Given the description of an element on the screen output the (x, y) to click on. 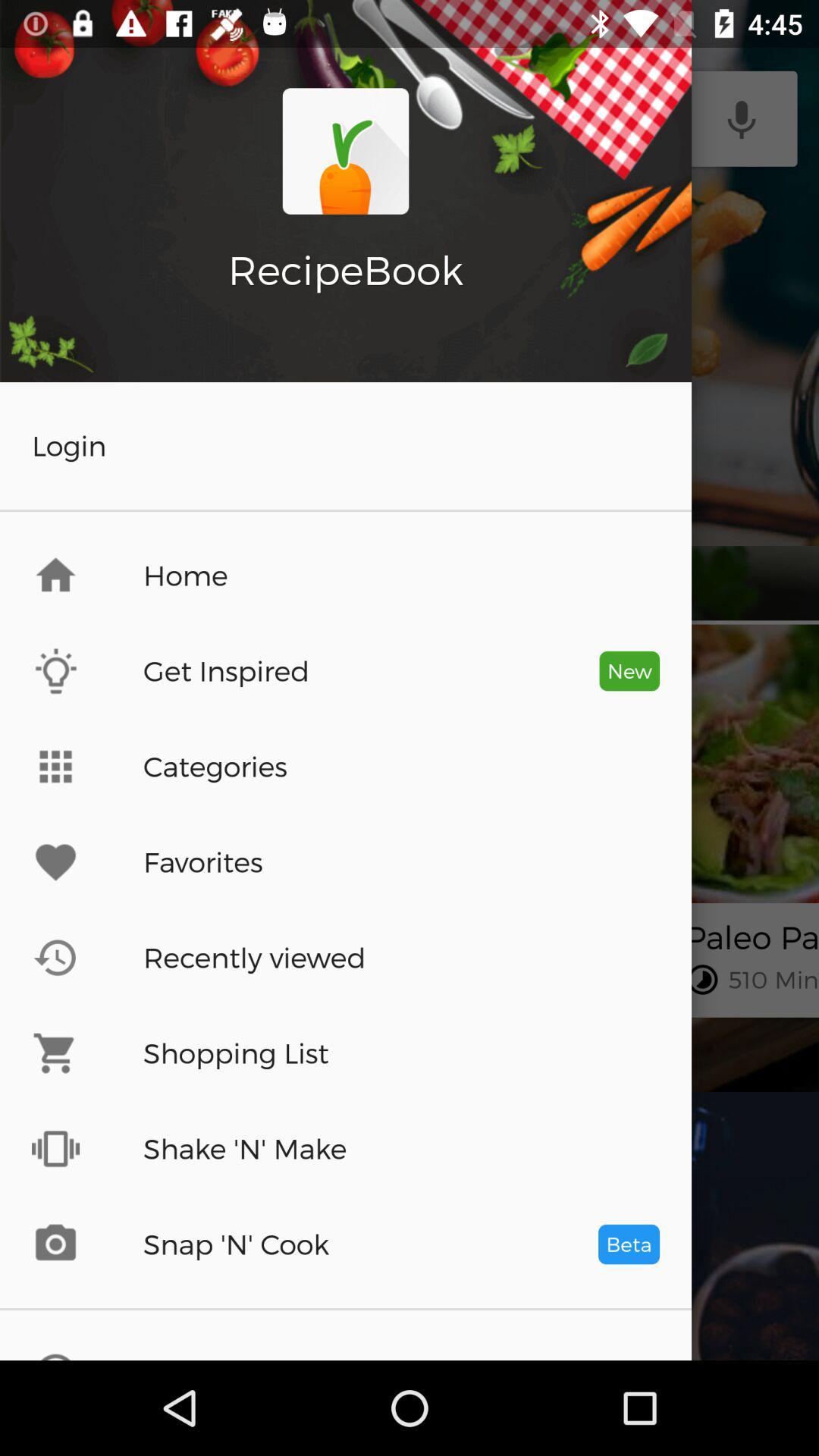
select voice search icon button (741, 119)
